Given the description of an element on the screen output the (x, y) to click on. 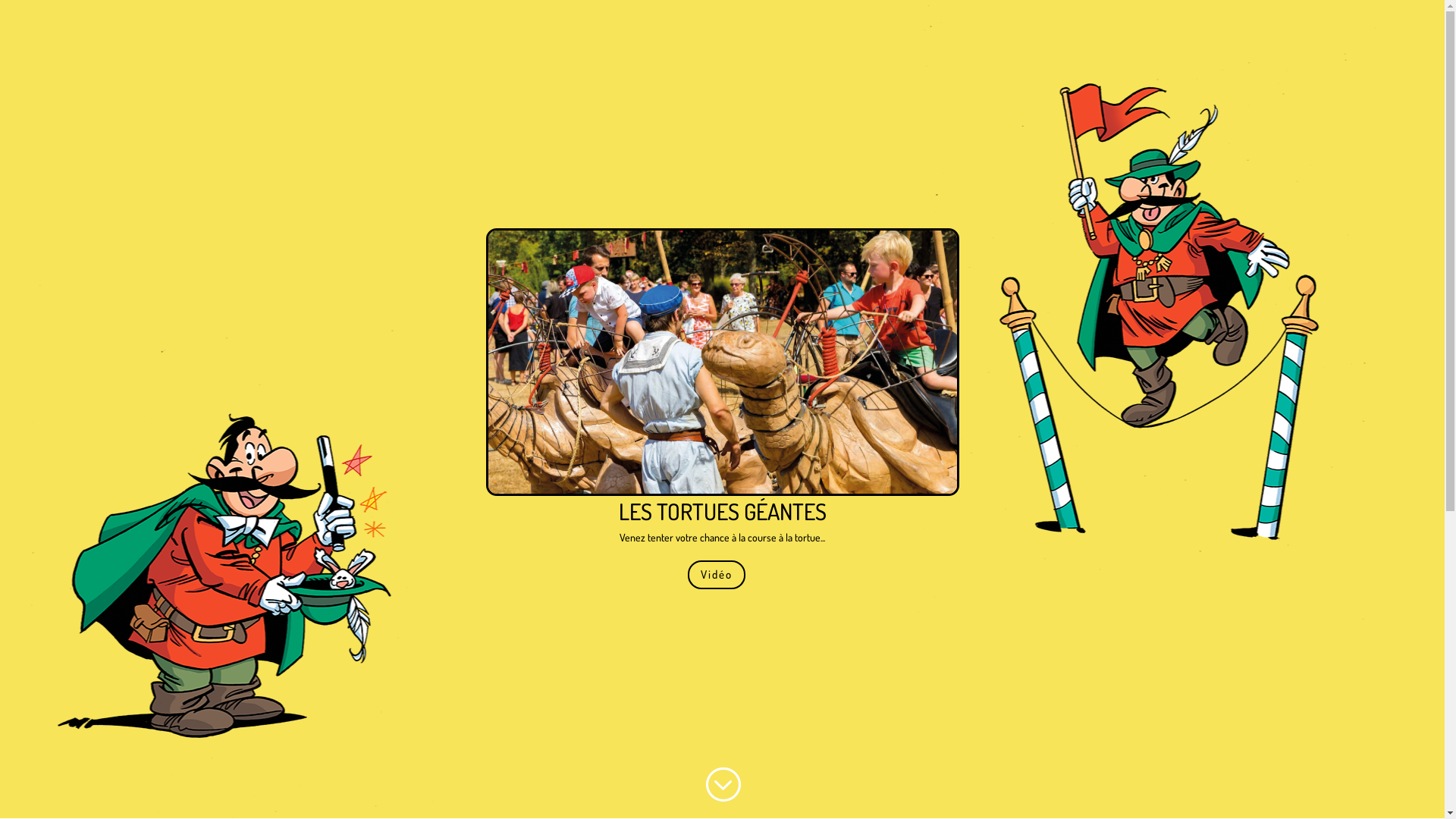
; Element type: text (721, 783)
